Given the description of an element on the screen output the (x, y) to click on. 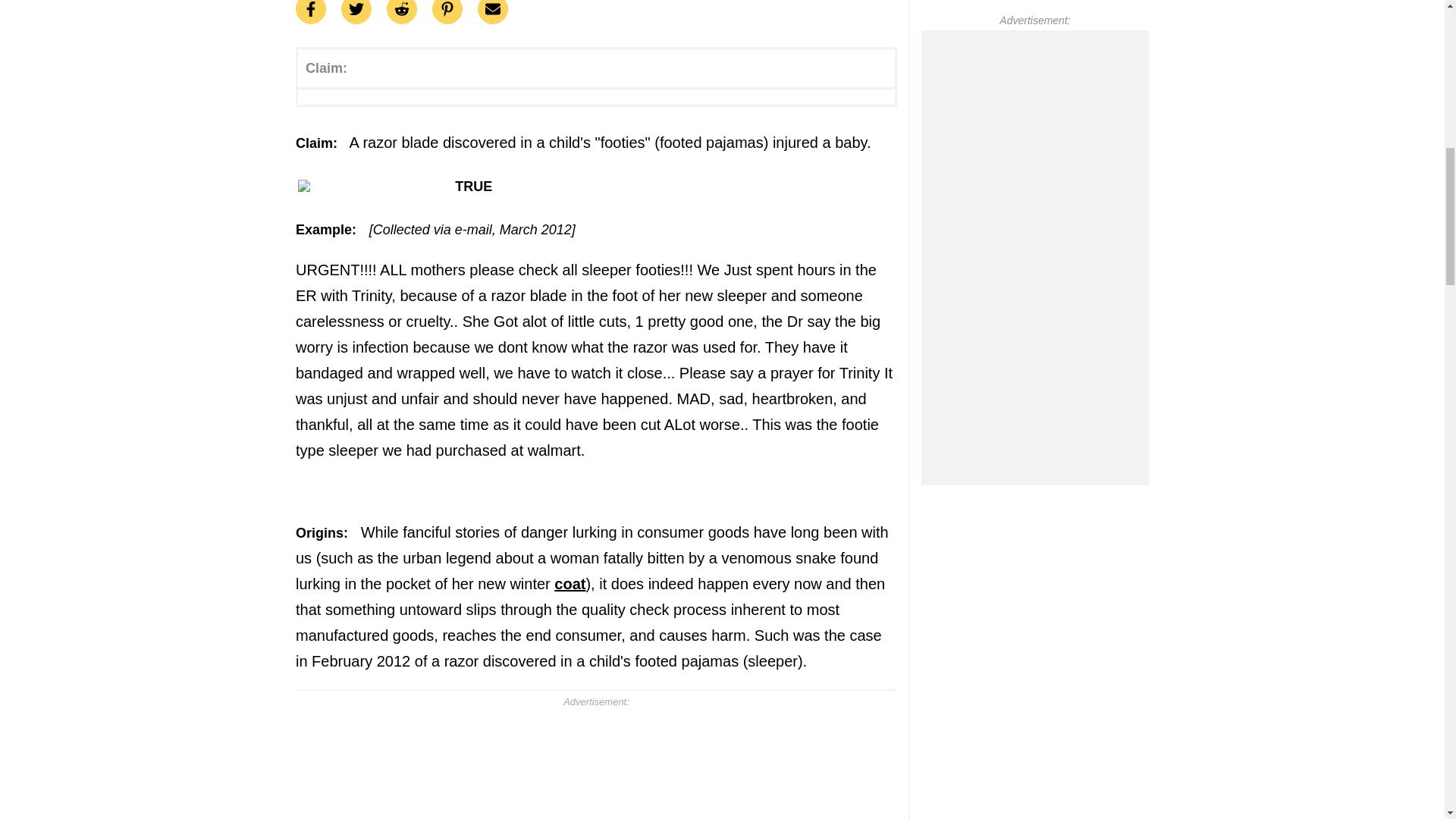
coat (569, 583)
